Given the description of an element on the screen output the (x, y) to click on. 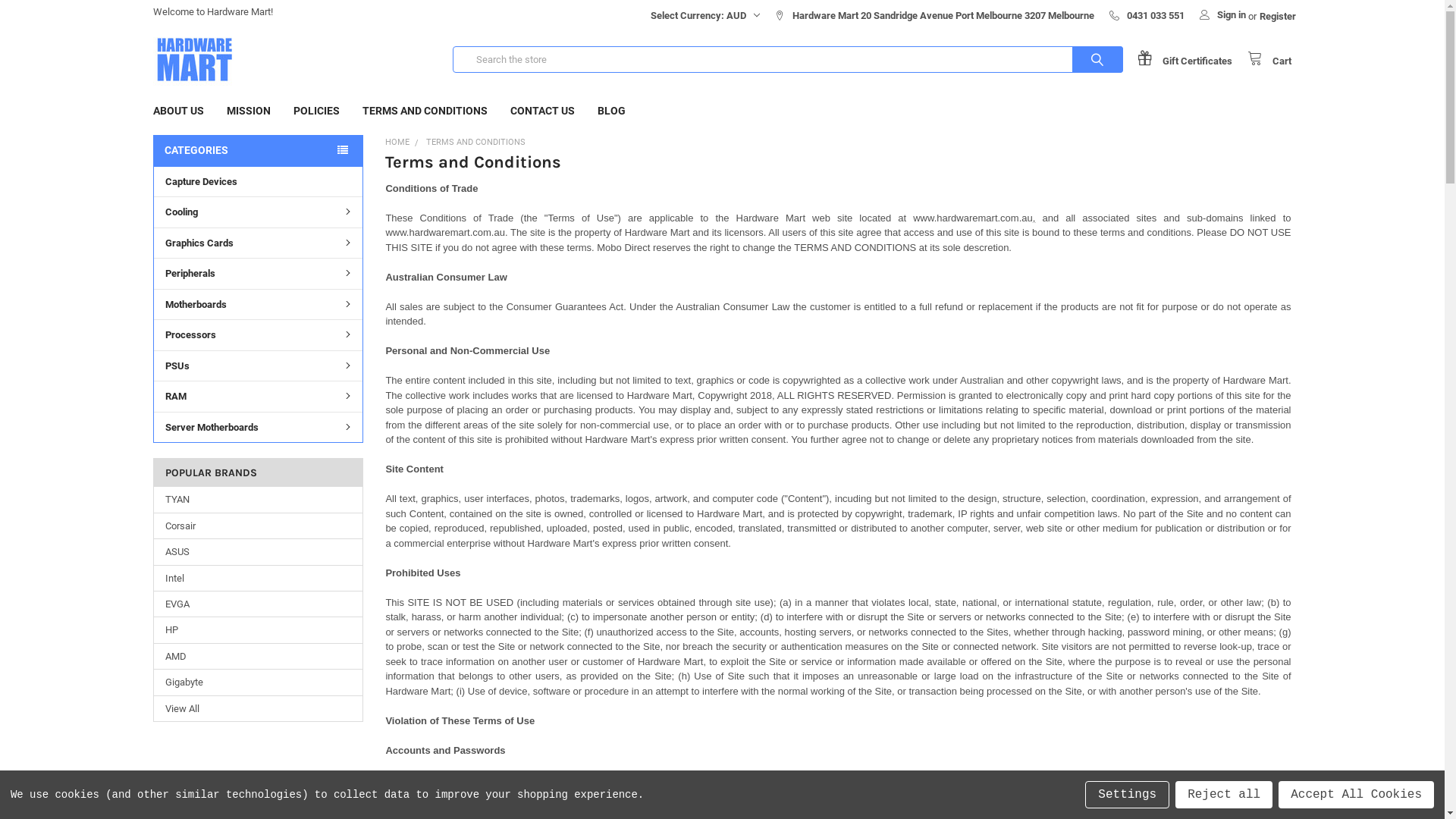
Capture Devices Element type: text (257, 181)
Reject all Element type: text (1223, 794)
EVGA Element type: text (257, 603)
Gigabyte Element type: text (257, 682)
CONTACT US Element type: text (542, 110)
Register Element type: text (1277, 12)
Cooling Element type: text (257, 211)
AMD Element type: text (257, 656)
HP Element type: text (257, 629)
Motherboards Element type: text (257, 303)
0431 033 551 Element type: text (1146, 11)
TERMS AND CONDITIONS Element type: text (475, 142)
ASUS Element type: text (257, 551)
Graphics Cards Element type: text (257, 242)
Intel Element type: text (257, 577)
BLOG Element type: text (611, 110)
CATEGORIES Element type: text (257, 150)
RAM Element type: text (257, 395)
HOME Element type: text (397, 142)
Sign in Element type: text (1222, 10)
Processors Element type: text (257, 334)
Search Element type: text (1081, 59)
TYAN Element type: text (257, 499)
Accept All Cookies Element type: text (1356, 794)
ABOUT US Element type: text (178, 110)
Gift Certificates Element type: text (1191, 59)
View All Element type: text (257, 708)
TERMS AND CONDITIONS Element type: text (424, 110)
Select Currency: 
AUD Element type: text (701, 11)
Peripherals Element type: text (257, 272)
Settings Element type: text (1127, 794)
PSUs Element type: text (257, 365)
Server Motherboards Element type: text (257, 426)
MISSION Element type: text (248, 110)
POLICIES Element type: text (316, 110)
Corsair Element type: text (257, 525)
Hardware Mart Element type: hover (194, 59)
Cart Element type: text (1269, 59)
